Given the description of an element on the screen output the (x, y) to click on. 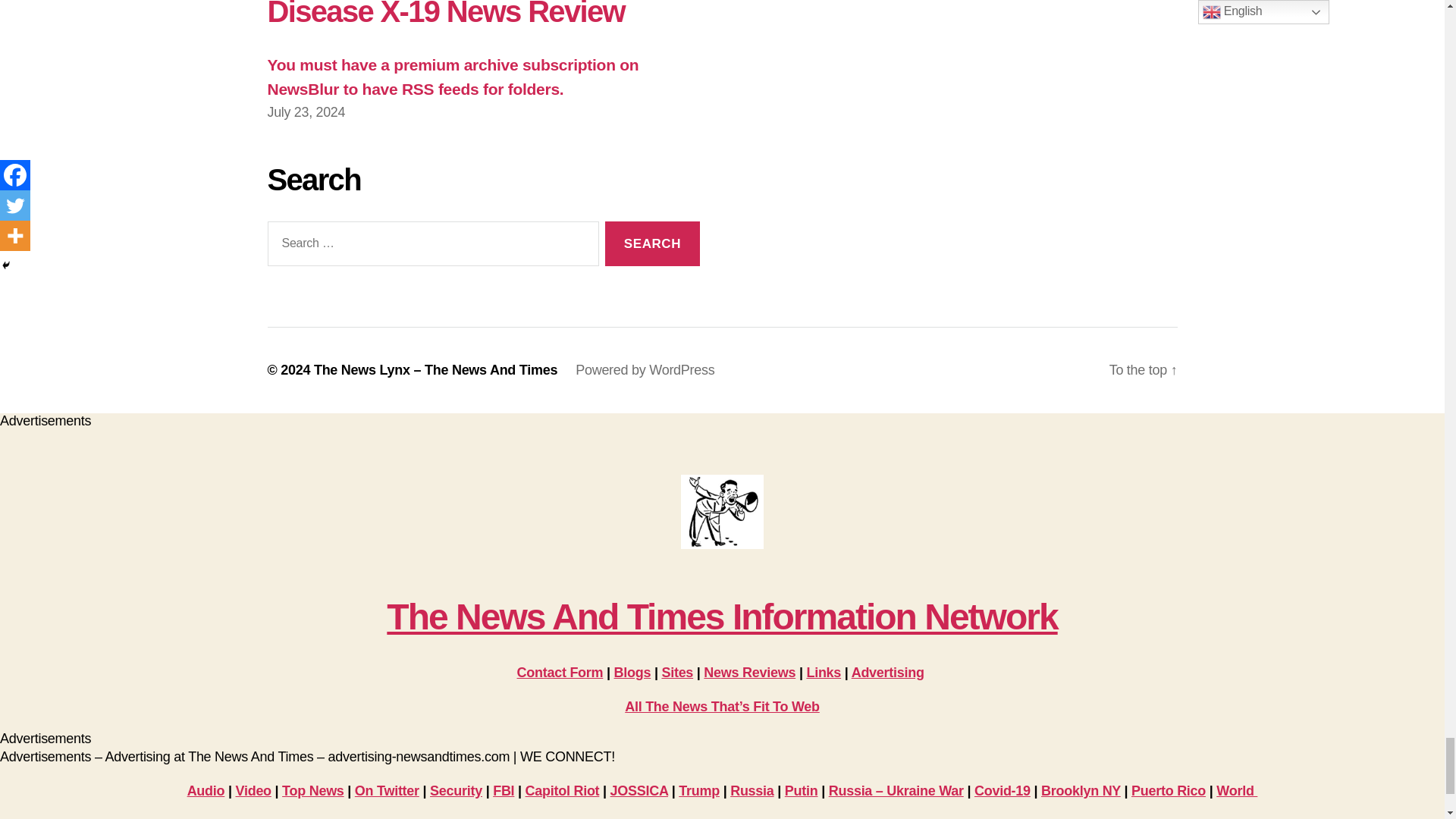
Search (651, 243)
Search (651, 243)
